Given the description of an element on the screen output the (x, y) to click on. 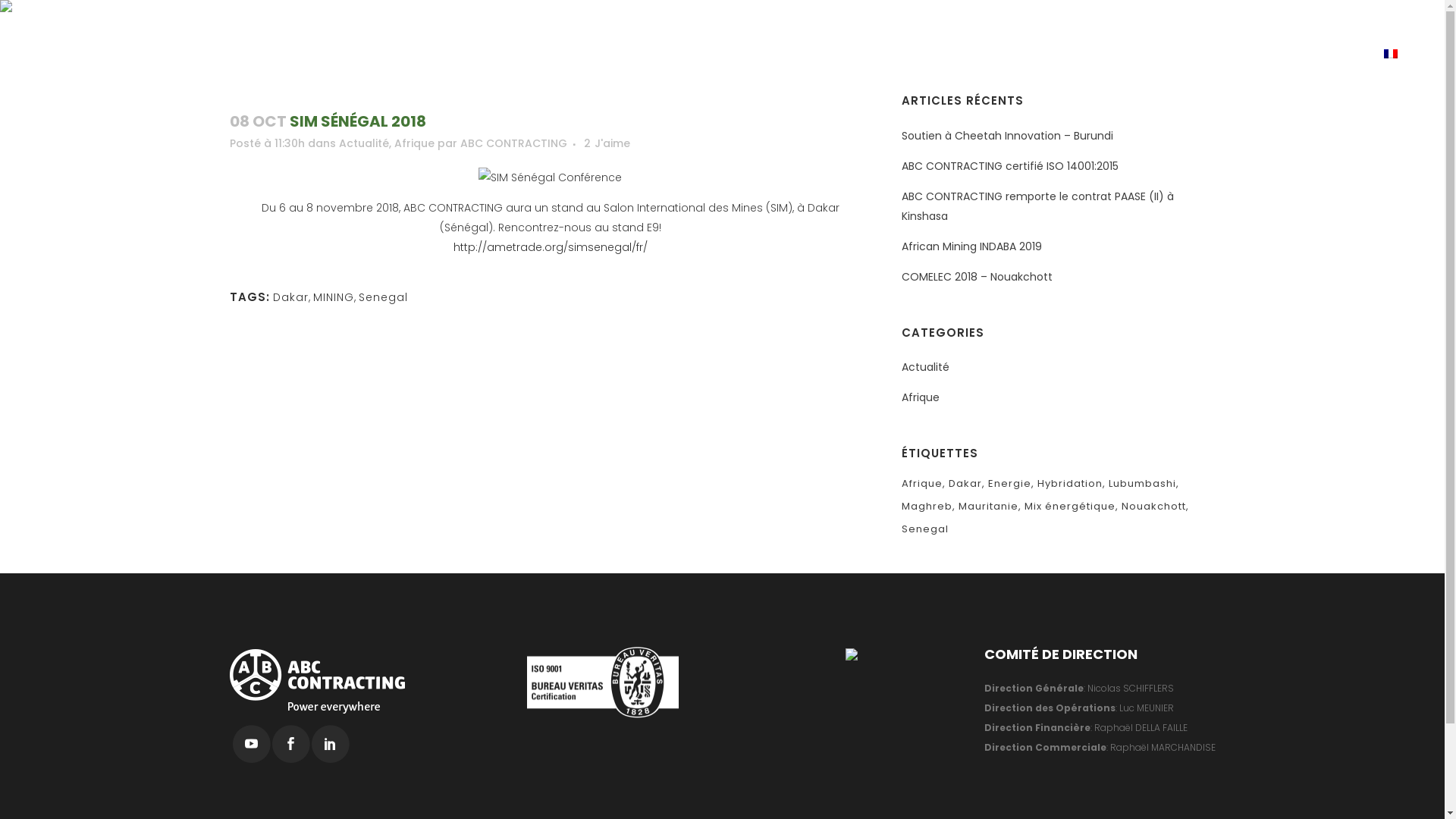
MINING Element type: text (332, 296)
JOBS Element type: text (1265, 55)
NEWS Element type: text (1211, 55)
ABC CONTRACTING Element type: text (857, 55)
Hybridation Element type: text (1071, 483)
PARTENAIRES Element type: text (1048, 55)
Dakar Element type: text (966, 483)
Afrique Element type: text (923, 483)
Home Element type: text (1046, 66)
Energie Element type: text (1011, 483)
Senegal Element type: text (382, 296)
SIM_Senegal_ABC_Contracting Element type: hover (549, 177)
Dakar Element type: text (290, 296)
Afrique Element type: text (920, 396)
Maghreb Element type: text (928, 506)
Afrique Element type: text (414, 142)
Nouakchott Element type: text (1155, 506)
2 J'aime Element type: text (606, 143)
Senegal Element type: text (924, 529)
Mauritanie Element type: text (989, 506)
Lubumbashi Element type: text (1143, 483)
http://ametrade.org/simsenegal/fr/ Element type: text (550, 246)
ABC CONTRACTING Element type: text (512, 142)
CONTACT Element type: text (1331, 55)
African Mining INDABA 2019 Element type: text (971, 246)
